Given the description of an element on the screen output the (x, y) to click on. 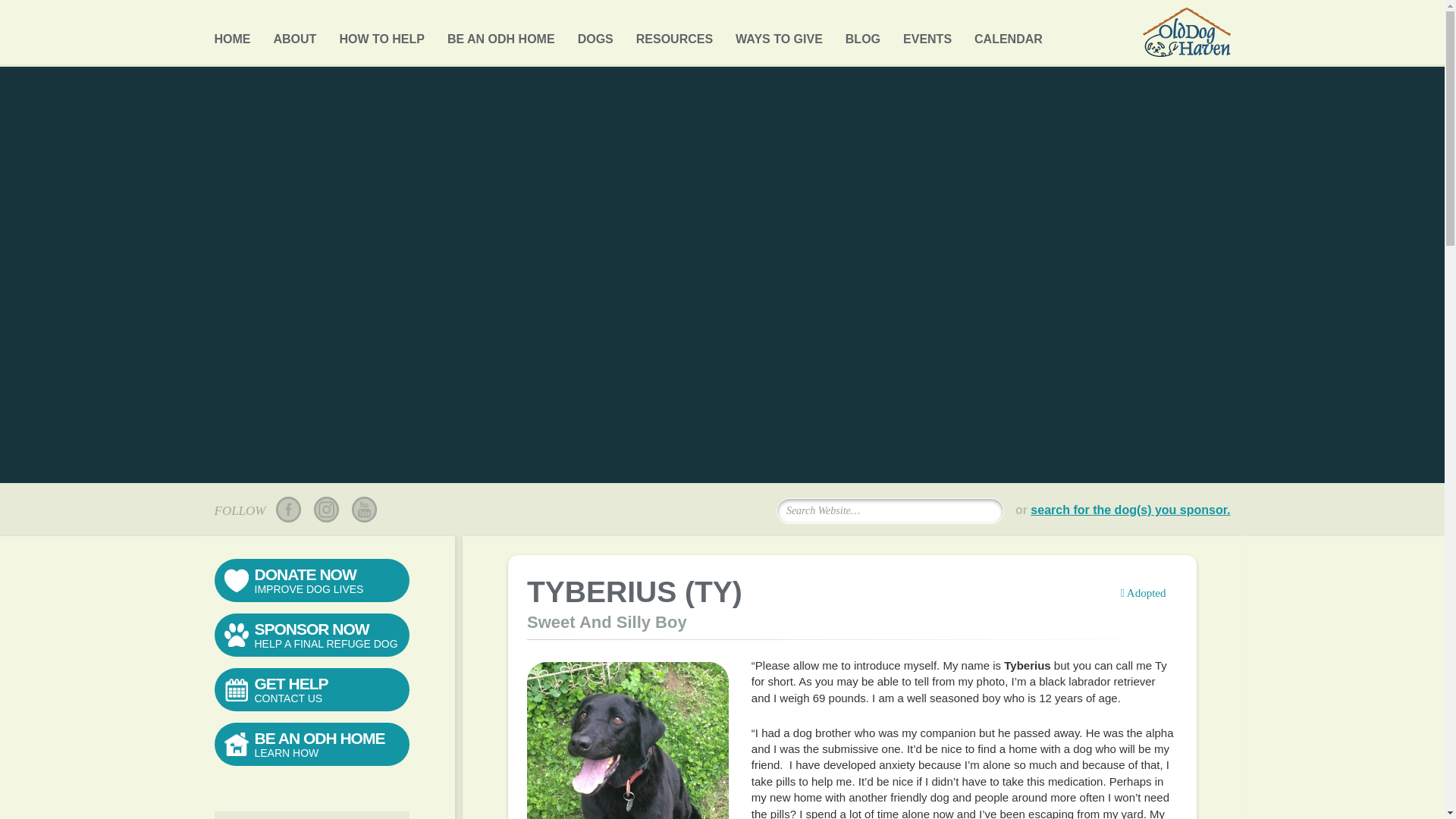
EVENTS (927, 34)
HOW TO HELP (382, 34)
Dogs (595, 34)
BE AN ODH HOME (500, 34)
How To Help (382, 34)
ABOUT (294, 34)
CALENDAR (1008, 34)
About (294, 34)
WAYS TO GIVE (778, 34)
HOME (232, 34)
